Given the description of an element on the screen output the (x, y) to click on. 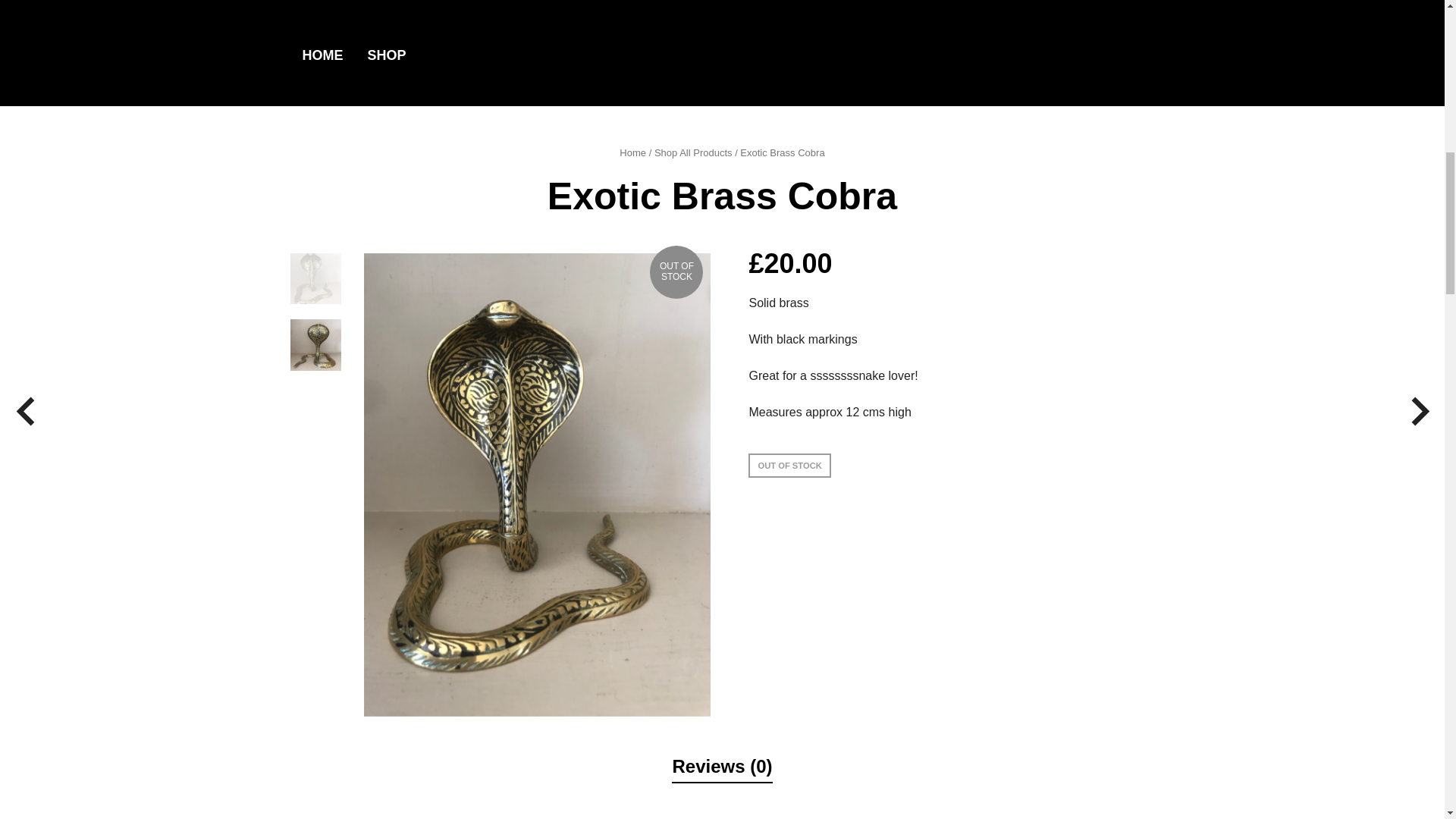
SHOP (386, 55)
Shop All Products (692, 152)
Home (633, 152)
HOME (322, 55)
